Given the description of an element on the screen output the (x, y) to click on. 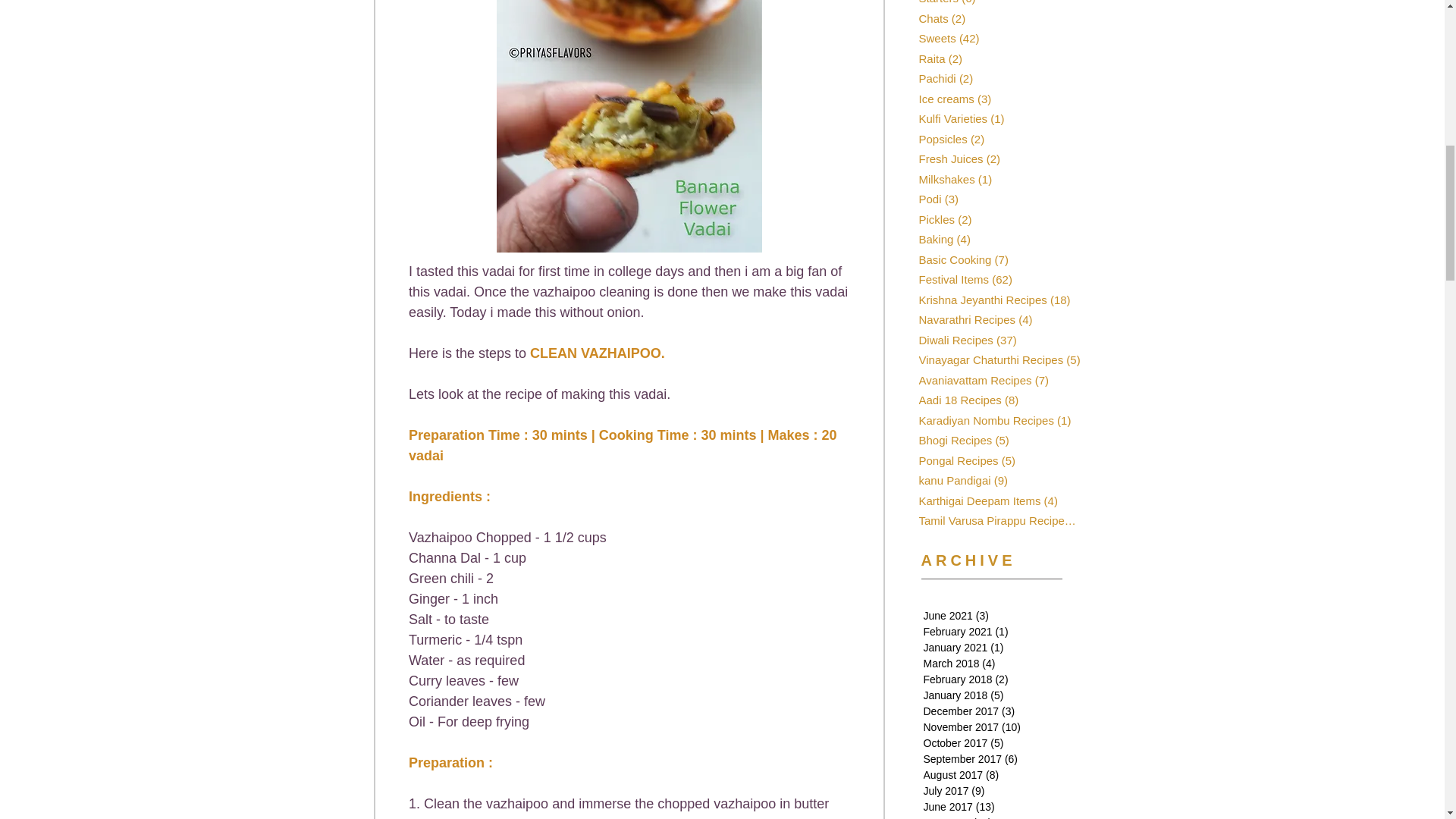
CLEAN VAZHAIPOO (595, 353)
